Given the description of an element on the screen output the (x, y) to click on. 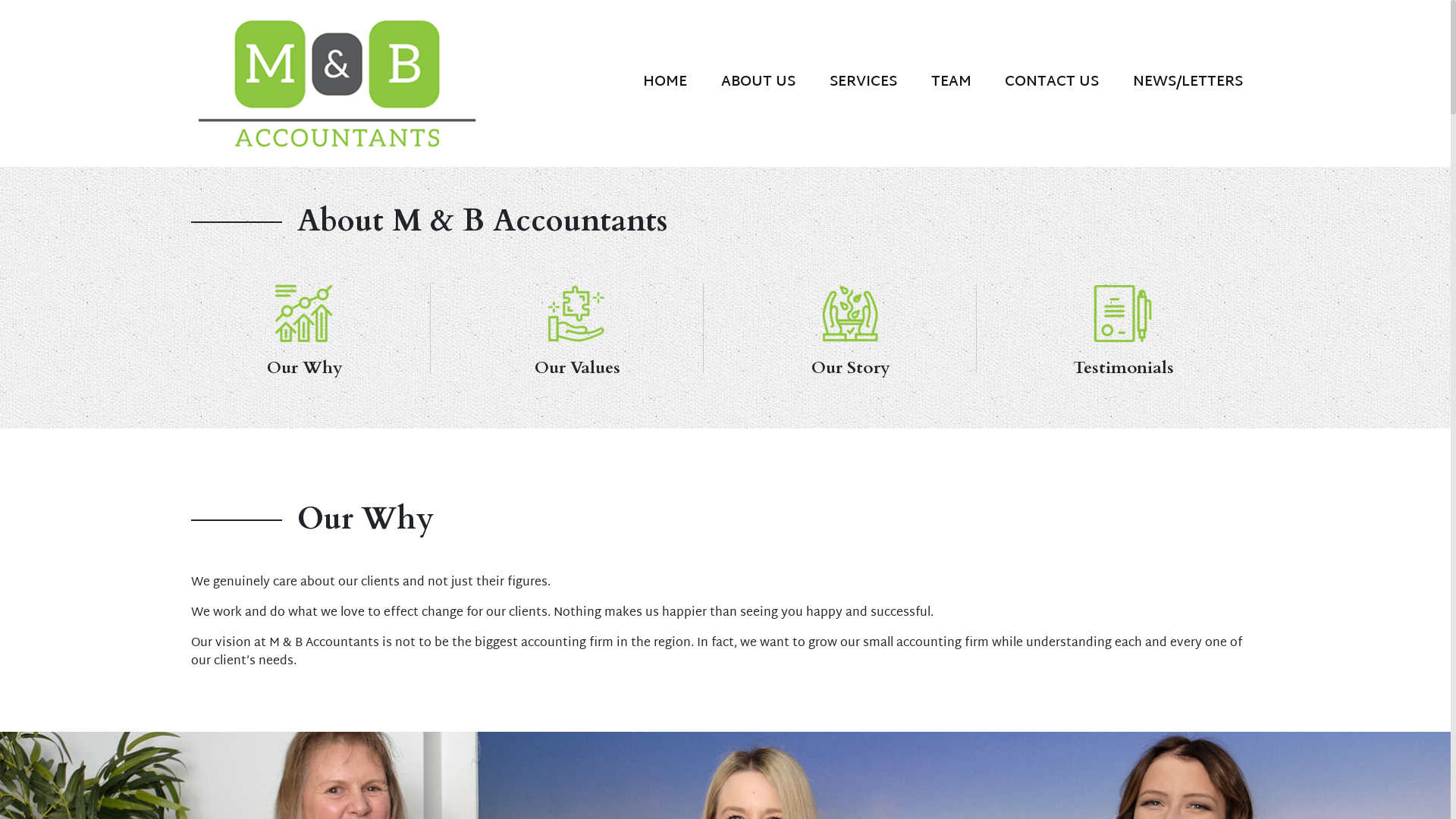
Our Why Element type: hover (304, 313)
CONTACT US Element type: text (1052, 81)
Our Values Element type: hover (577, 313)
TEAM Element type: text (950, 81)
Our Story Element type: text (849, 327)
SERVICES Element type: text (862, 81)
HOME Element type: text (665, 81)
M & B Accountants Element type: hover (338, 81)
Our Values Element type: text (576, 327)
Testimonials Element type: hover (1123, 313)
ABOUT US Element type: text (758, 81)
Testimonials Element type: text (1122, 327)
NEWS/LETTERS Element type: text (1188, 81)
Our Story Element type: hover (850, 313)
Our Why Element type: text (303, 327)
